Given the description of an element on the screen output the (x, y) to click on. 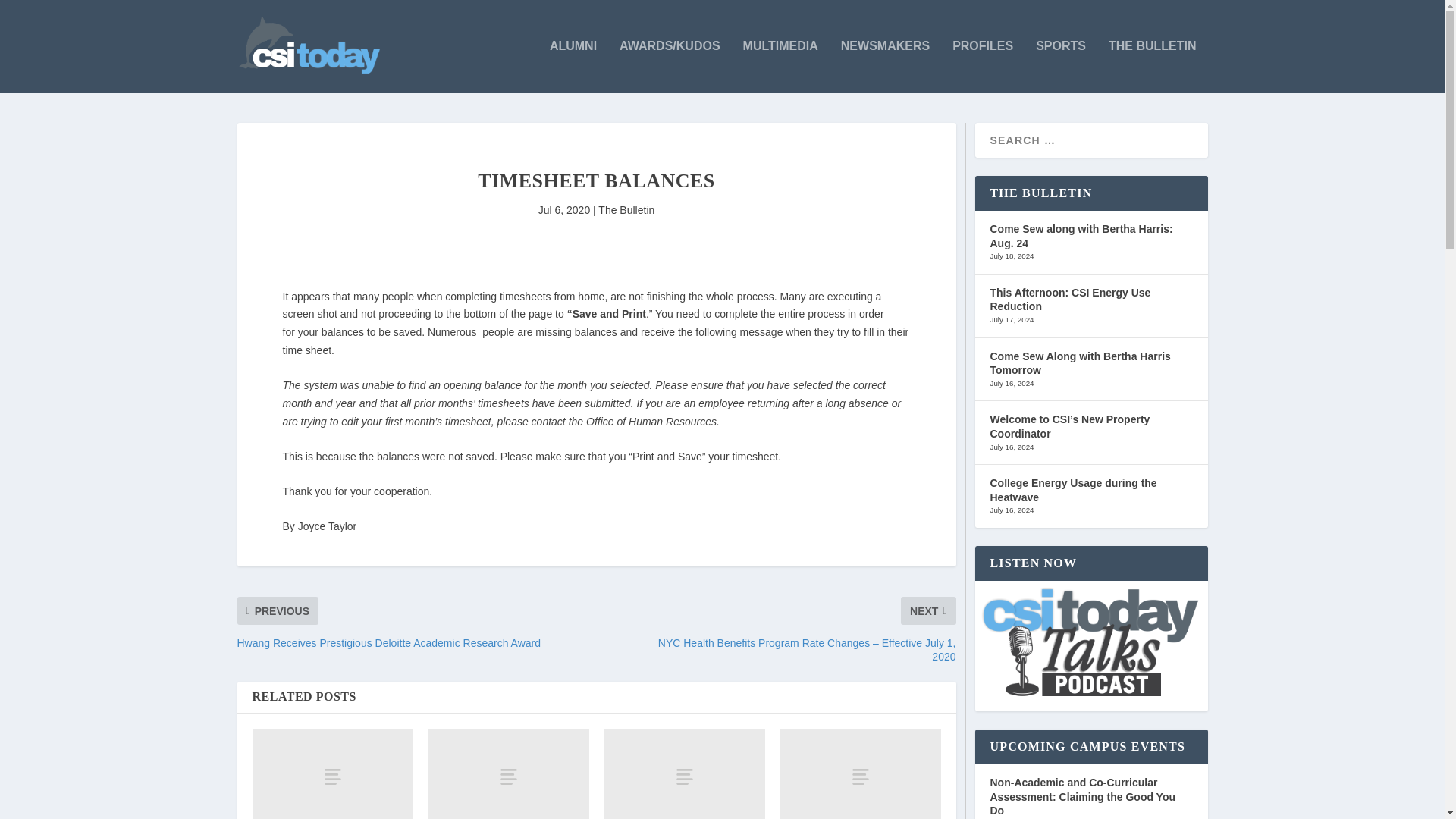
MULTIMEDIA (780, 66)
ALUMNI (573, 66)
PROFILES (982, 66)
THE BULLETIN (1152, 66)
CSI Faculty and Staff Seasonal Flu Vaccine Clinic (684, 773)
SPORTS (1060, 66)
NEWSMAKERS (885, 66)
